Given the description of an element on the screen output the (x, y) to click on. 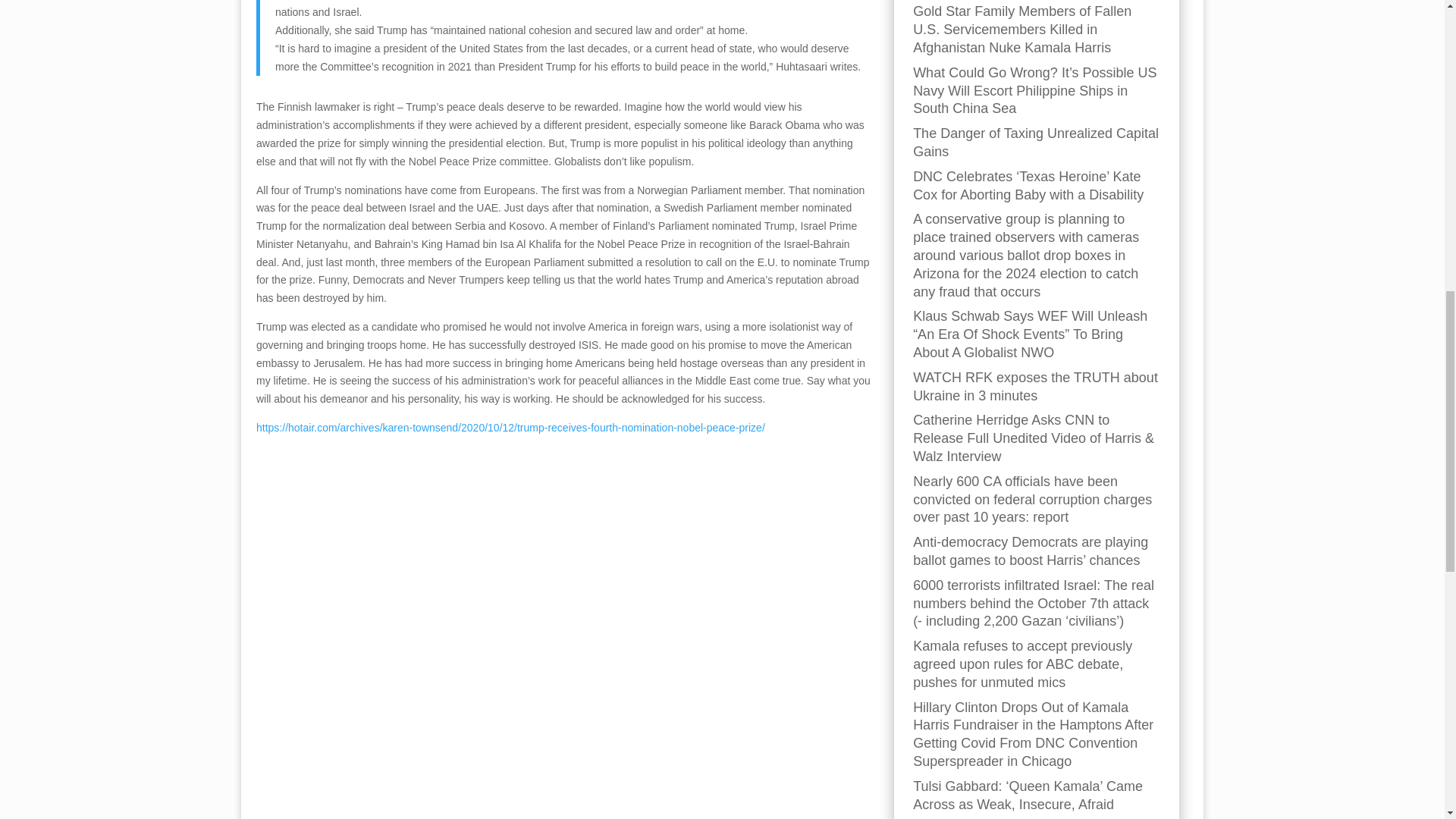
WATCH RFK exposes the TRUTH about Ukraine in 3 minutes (1034, 386)
The Danger of Taxing Unrealized Capital Gains (1035, 142)
